Given the description of an element on the screen output the (x, y) to click on. 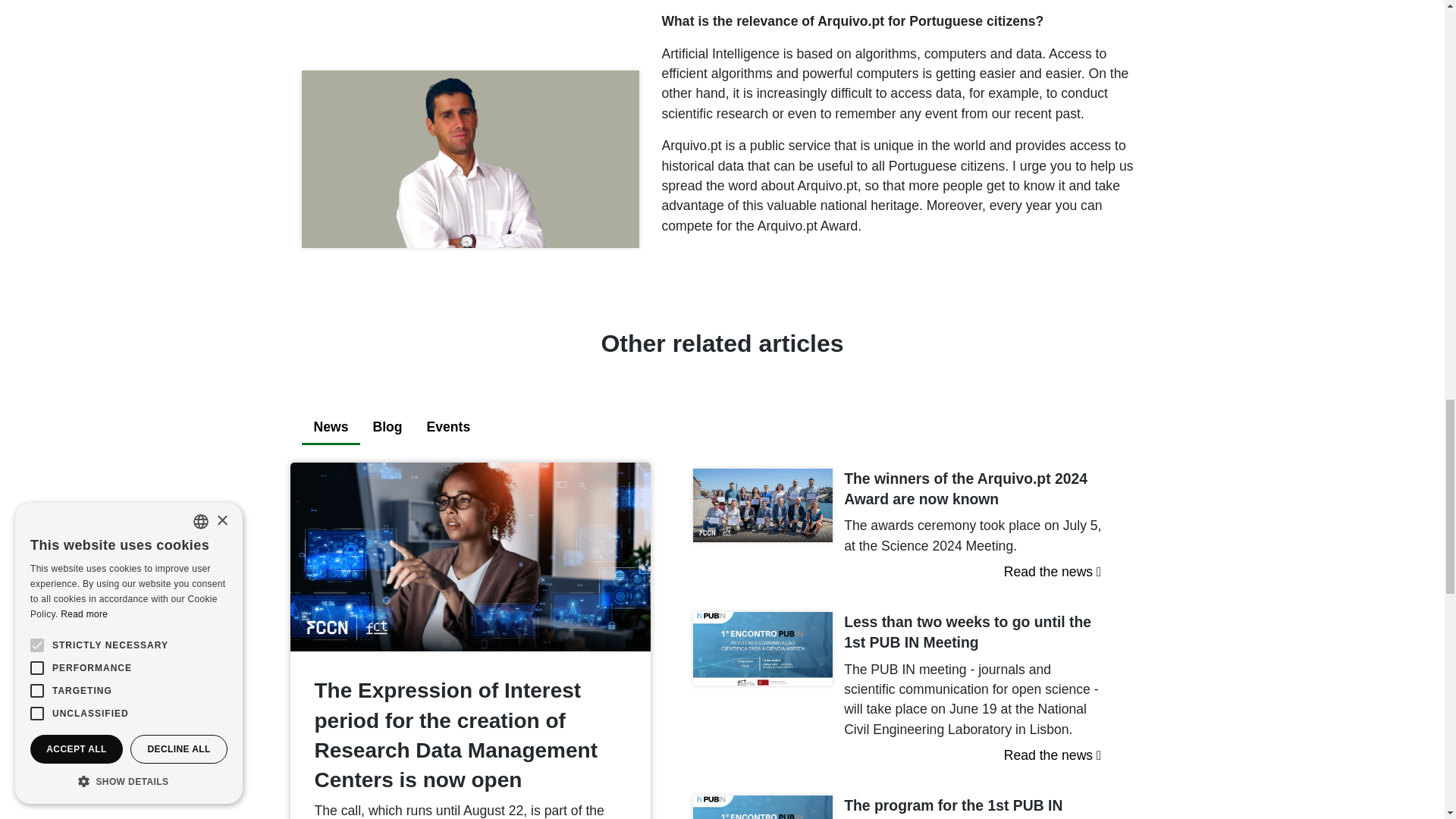
News (331, 428)
